Given the description of an element on the screen output the (x, y) to click on. 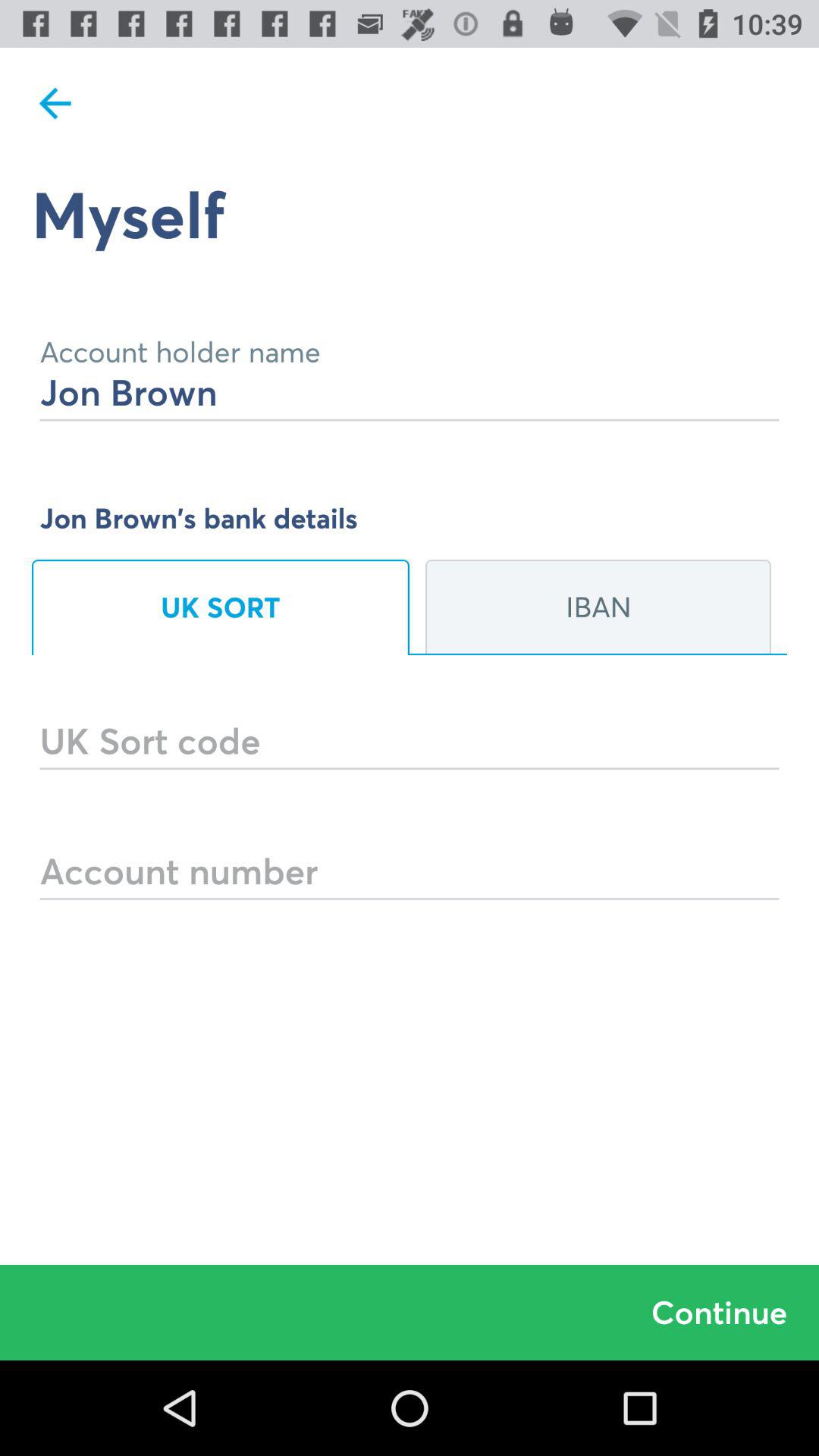
open the item to the right of the uk sort icon (598, 607)
